Given the description of an element on the screen output the (x, y) to click on. 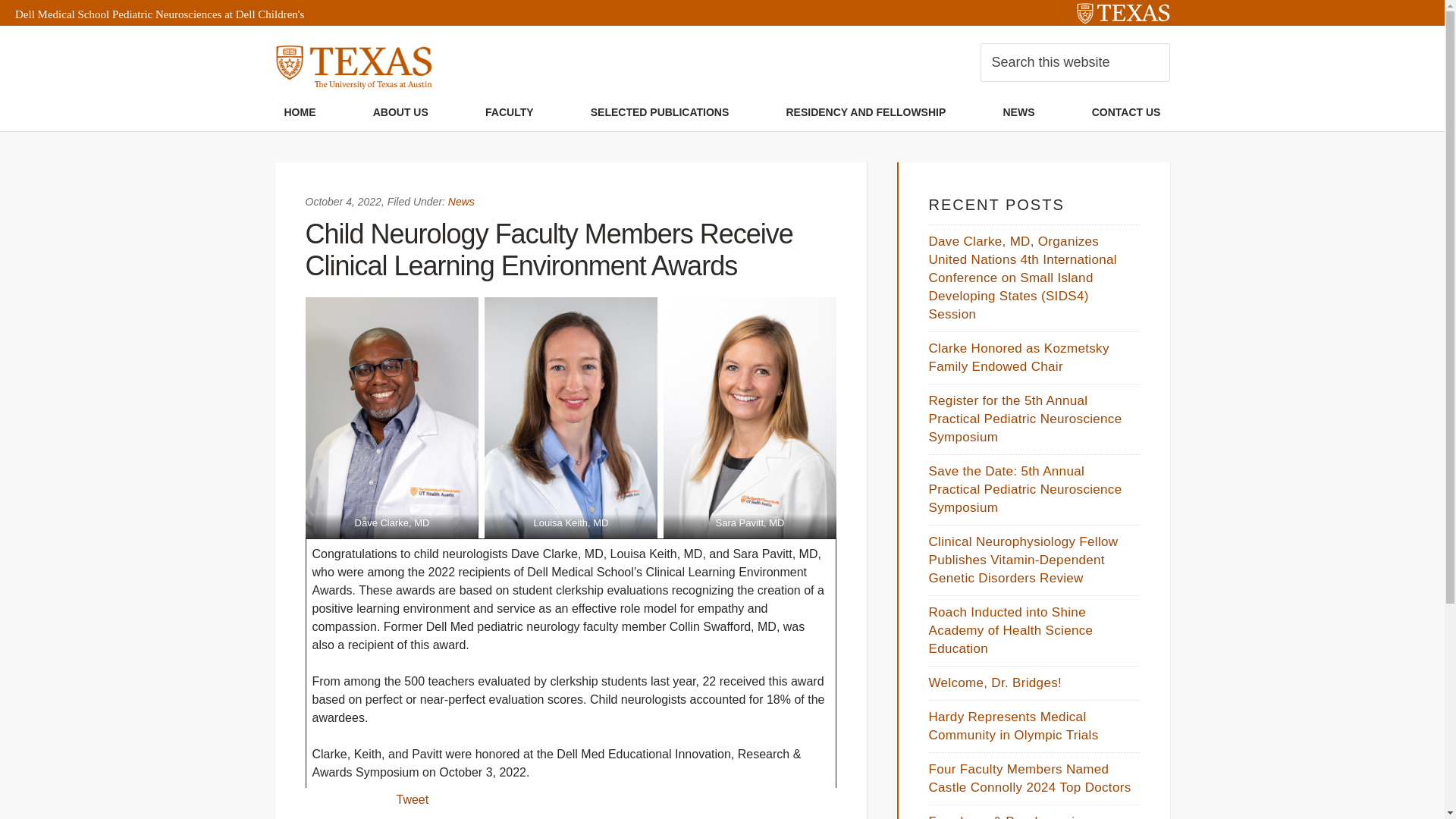
HOME (300, 112)
Four Faculty Members Named Castle Connolly 2024 Top Doctors (1029, 778)
Welcome, Dr. Bridges! (994, 682)
News (461, 201)
NEWS (1018, 112)
RESIDENCY AND FELLOWSHIP (865, 112)
Tweet (412, 799)
FACULTY (509, 112)
SELECTED PUBLICATIONS (660, 112)
Clarke Honored as Kozmetsky Family Endowed Chair (1018, 357)
